Given the description of an element on the screen output the (x, y) to click on. 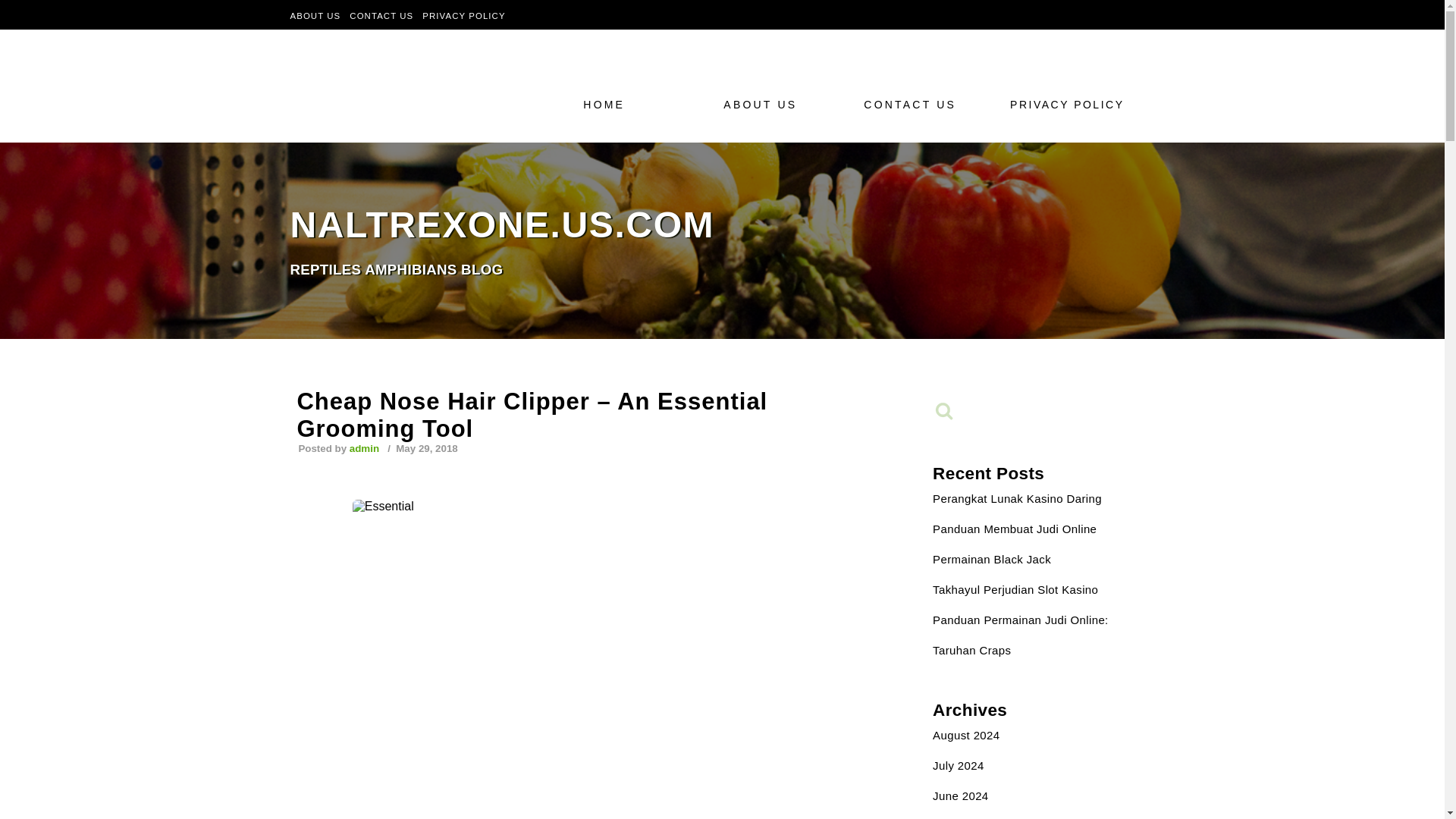
ABOUT US (314, 15)
Panduan Permainan Judi Online: Taruhan Craps (1020, 634)
HOME (630, 104)
Panduan Membuat Judi Online (721, 210)
PRIVACY POLICY (1014, 528)
PRIVACY POLICY (463, 15)
June 2024 (1071, 104)
CONTACT US (960, 795)
ABOUT US (913, 104)
